Given the description of an element on the screen output the (x, y) to click on. 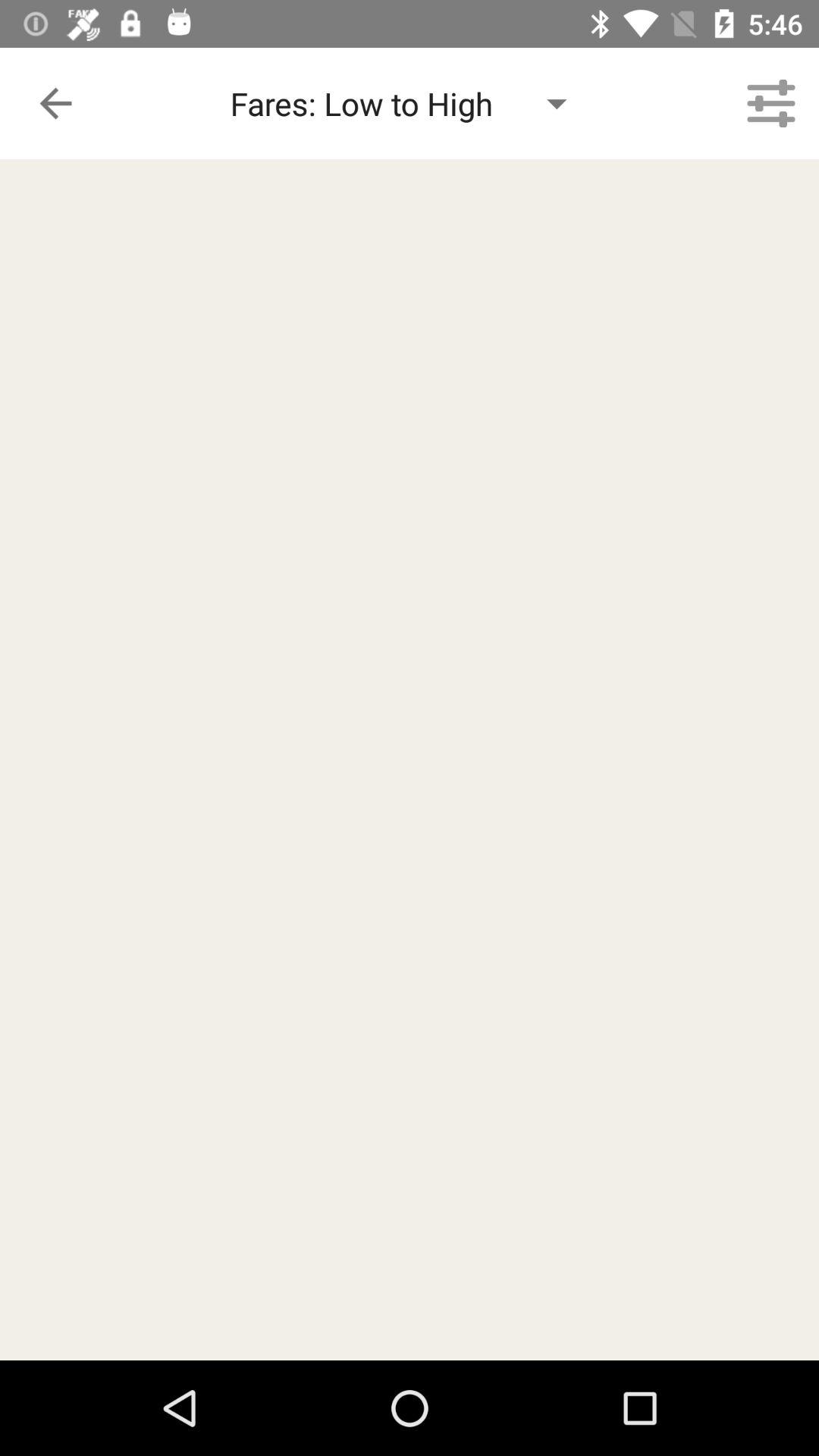
turn off item at the top right corner (771, 103)
